Given the description of an element on the screen output the (x, y) to click on. 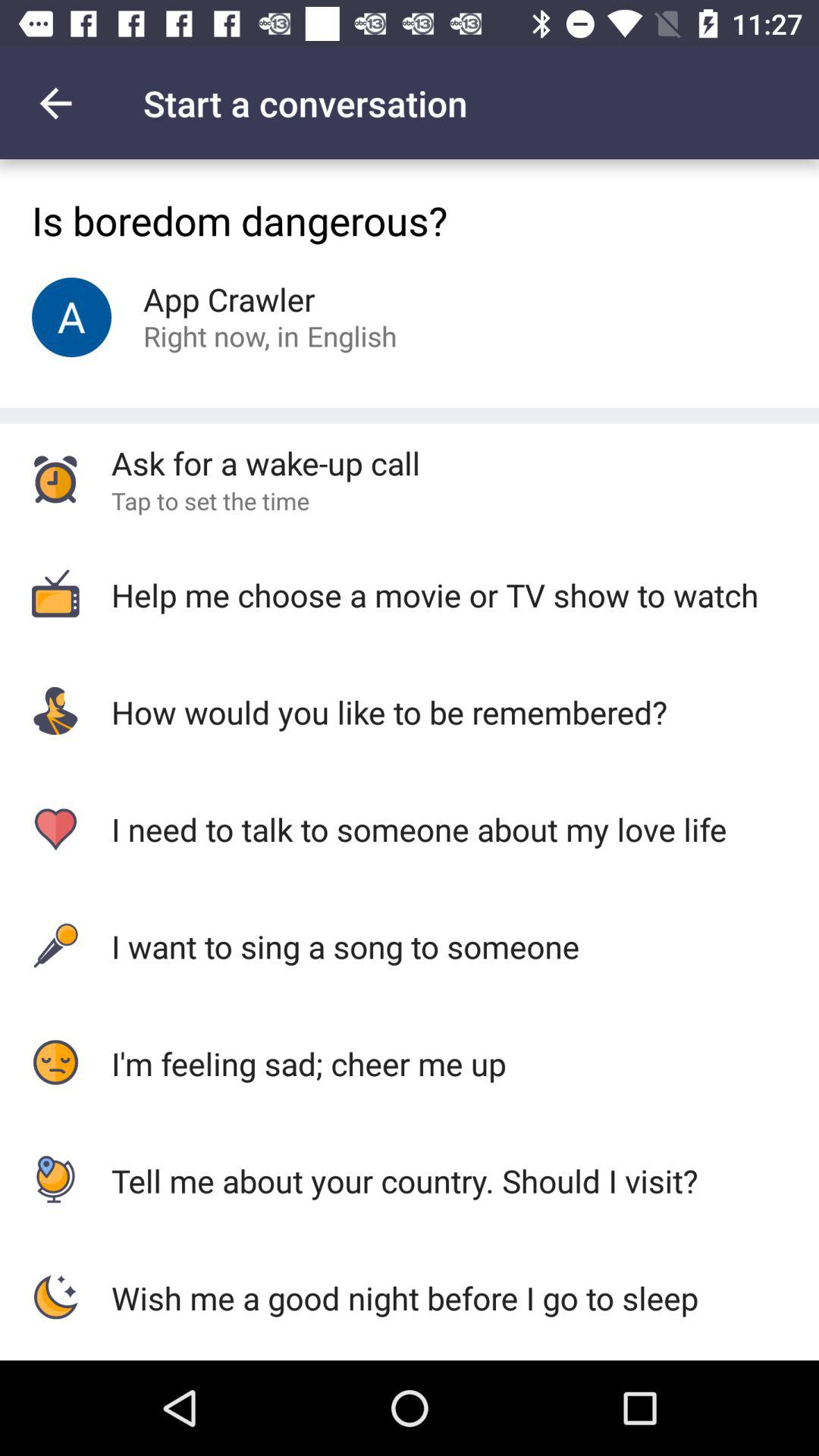
launch the icon above ask for a (351, 336)
